Given the description of an element on the screen output the (x, y) to click on. 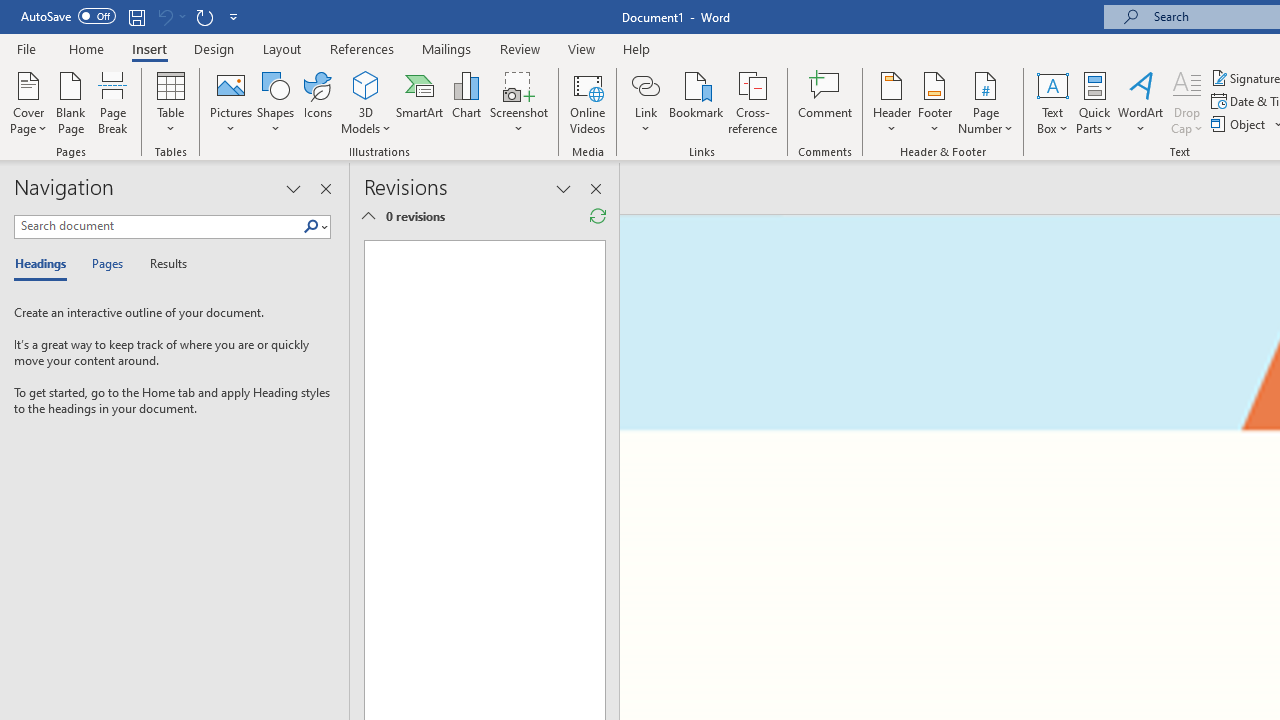
Cover Page (28, 102)
Quick Parts (1094, 102)
Page Break (113, 102)
Show Detailed Summary (368, 215)
WordArt (1141, 102)
Bookmark... (695, 102)
Header (891, 102)
Page Number (986, 102)
Pictures (230, 102)
Table (170, 102)
